Given the description of an element on the screen output the (x, y) to click on. 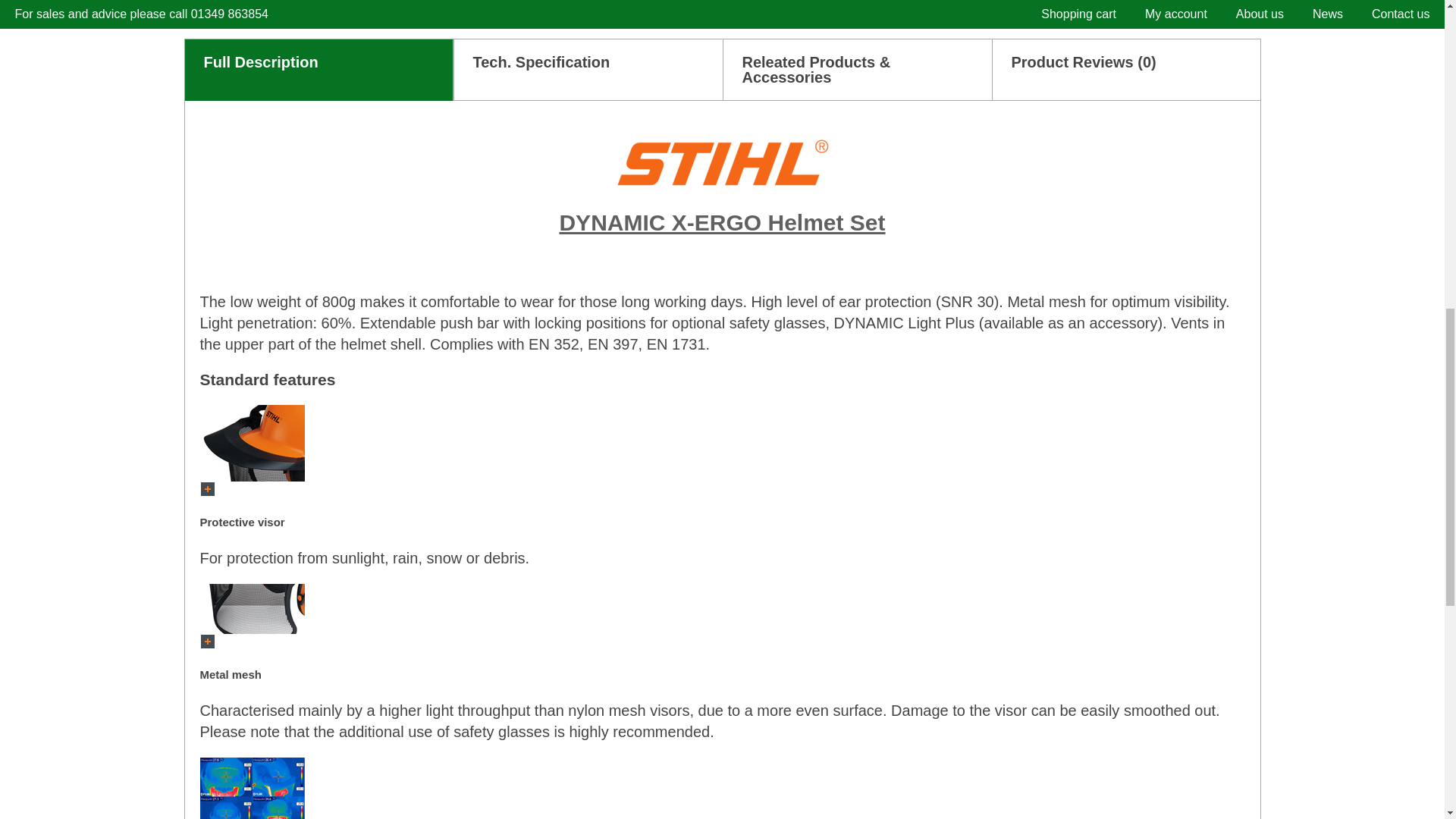
Metal mesh (252, 608)
Helmet Ventilation (252, 788)
Protective visor (252, 442)
